Given the description of an element on the screen output the (x, y) to click on. 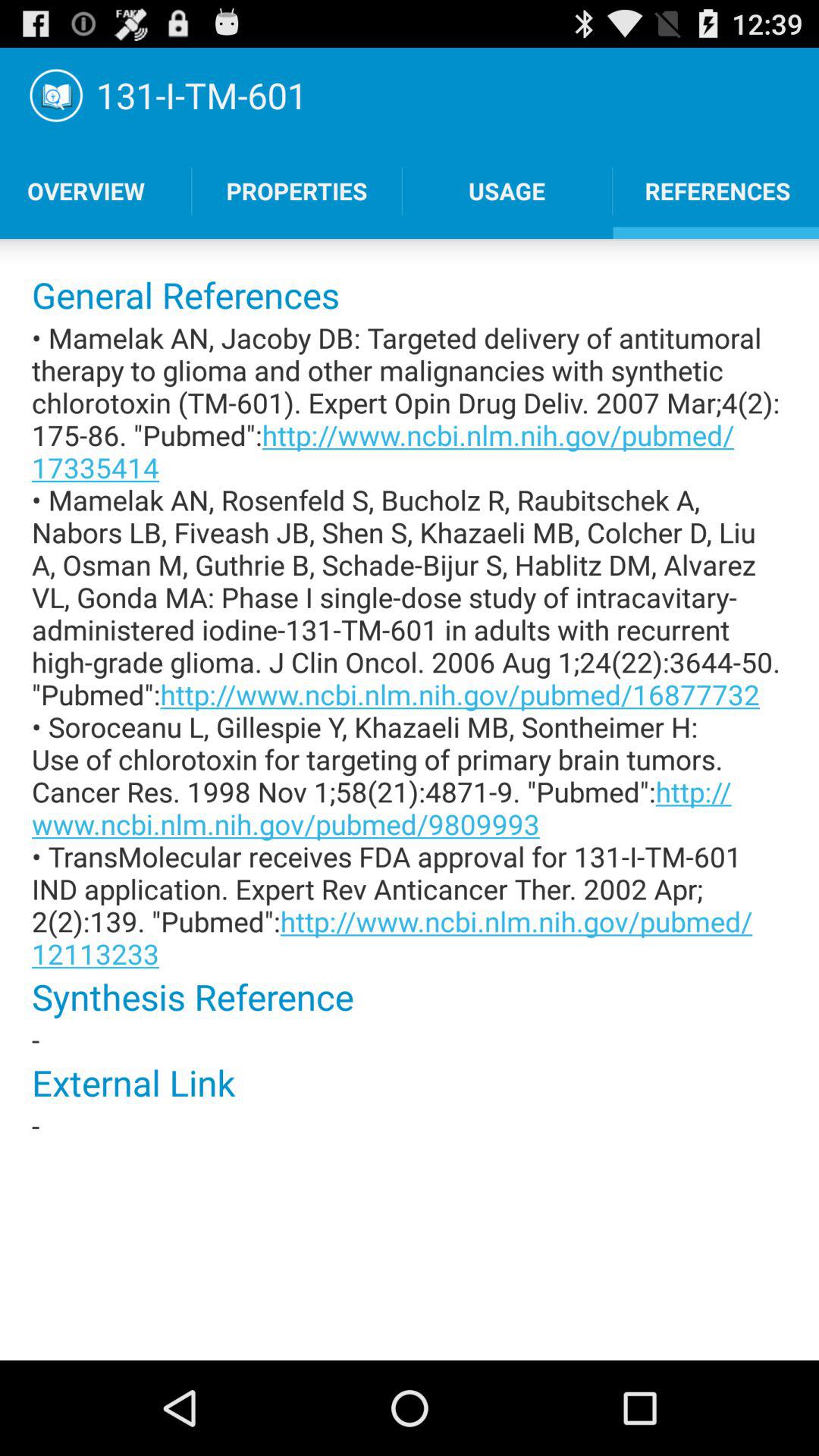
press the icon below the external link (409, 1125)
